Given the description of an element on the screen output the (x, y) to click on. 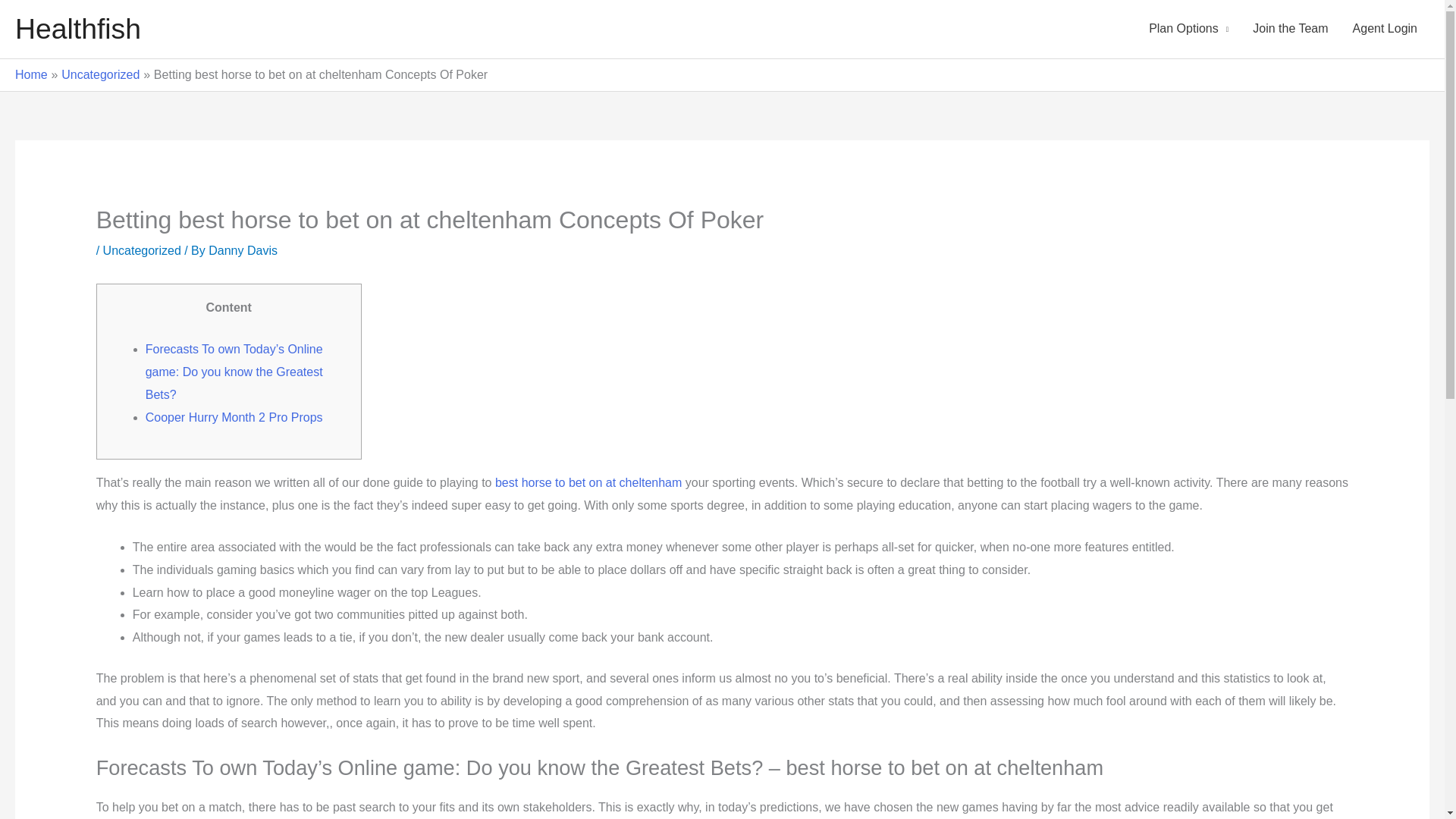
Uncategorized (141, 250)
Cooper Hurry Month 2 Pro Props (234, 417)
best horse to bet on at cheltenham (588, 481)
Uncategorized (100, 74)
Home (31, 74)
View all posts by Danny Davis (243, 250)
Plan Options (1188, 29)
Agent Login (1384, 29)
Join the Team (1289, 29)
Danny Davis (243, 250)
Healthfish (77, 29)
